Given the description of an element on the screen output the (x, y) to click on. 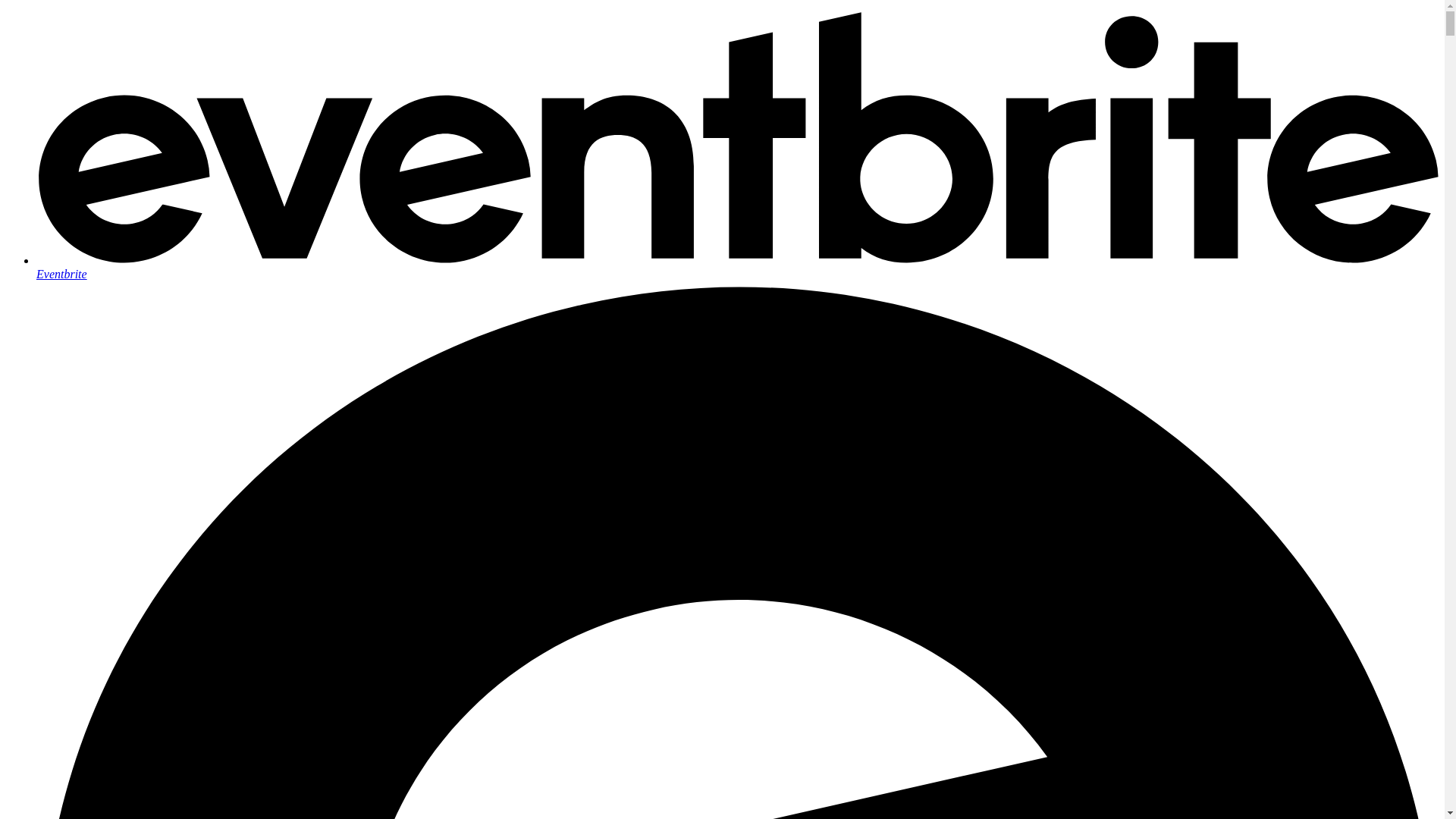
Eventbrite Element type: text (737, 267)
